Given the description of an element on the screen output the (x, y) to click on. 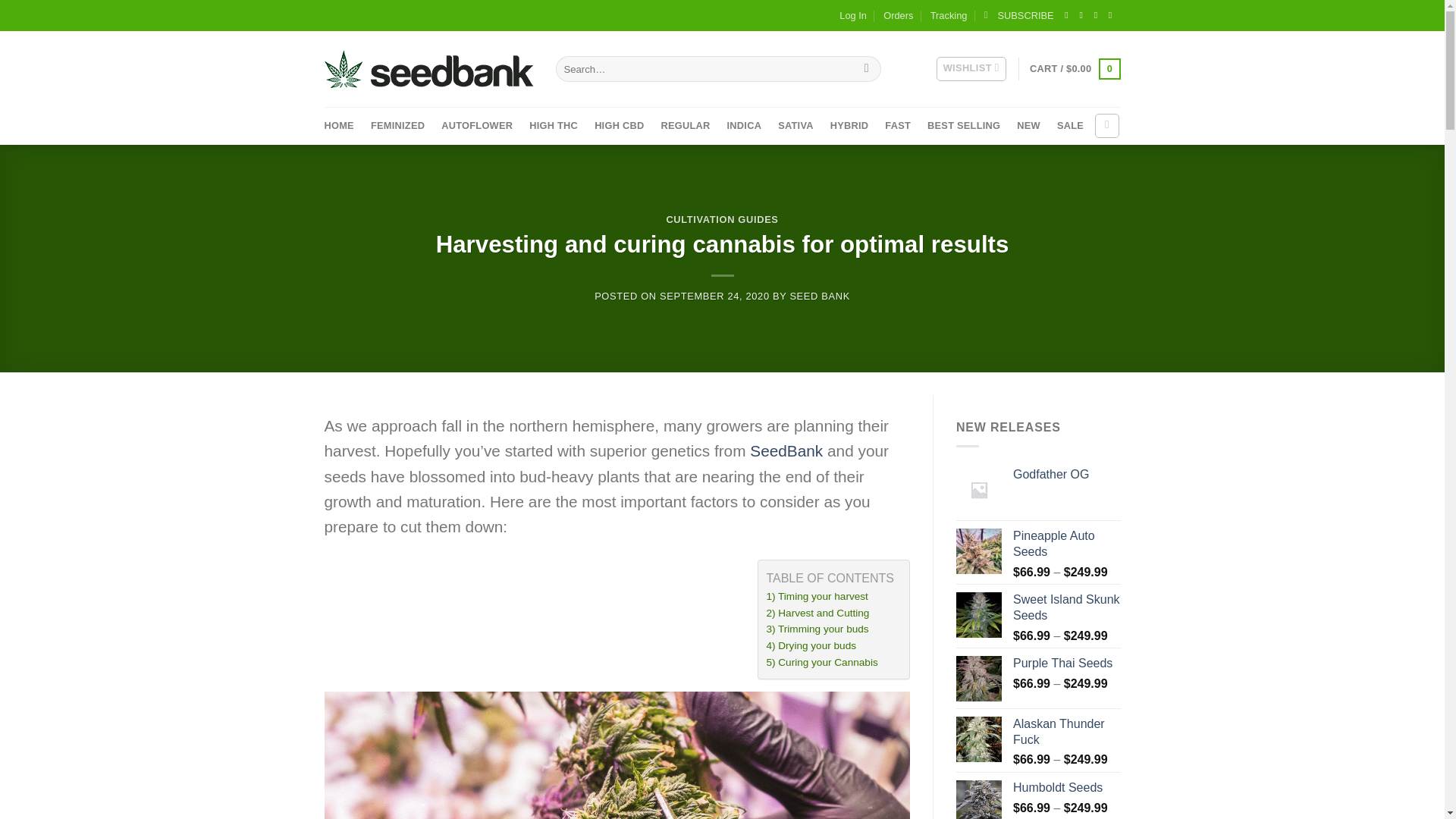
SeedBank (785, 450)
Login (1106, 125)
SEED BANK - BUY MARIJUANA SEEDS FOR SALE (428, 68)
Tracking (949, 15)
Wishlist (971, 68)
HIGH THC (553, 125)
SEED BANK (819, 296)
HIGH CBD (618, 125)
SEPTEMBER 24, 2020 (714, 296)
CULTIVATION GUIDES (721, 219)
BEST SELLING (963, 125)
FEMINIZED (398, 125)
WISHLIST (971, 68)
Cart (1074, 68)
